Given the description of an element on the screen output the (x, y) to click on. 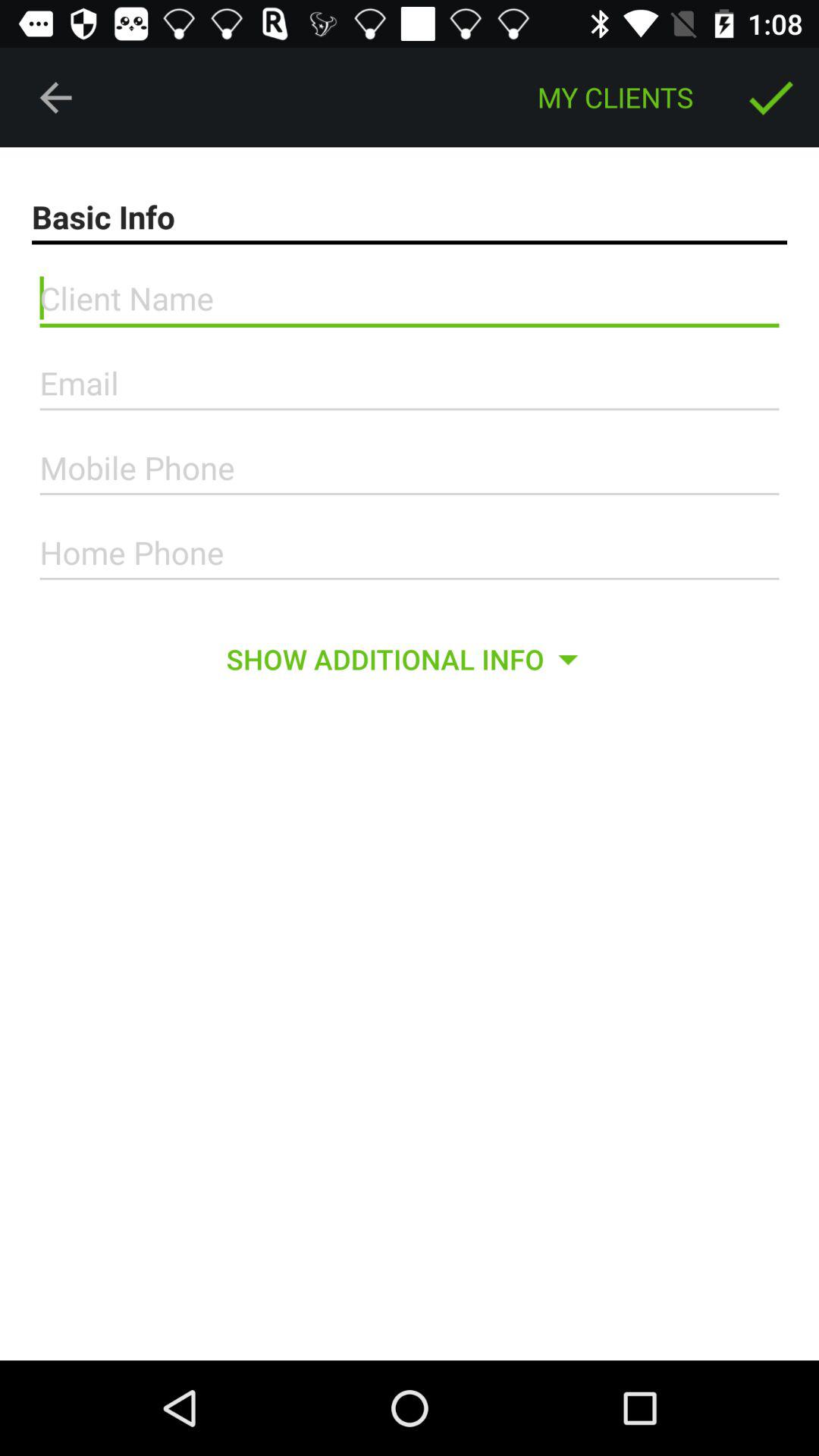
a place to enter email (409, 383)
